Given the description of an element on the screen output the (x, y) to click on. 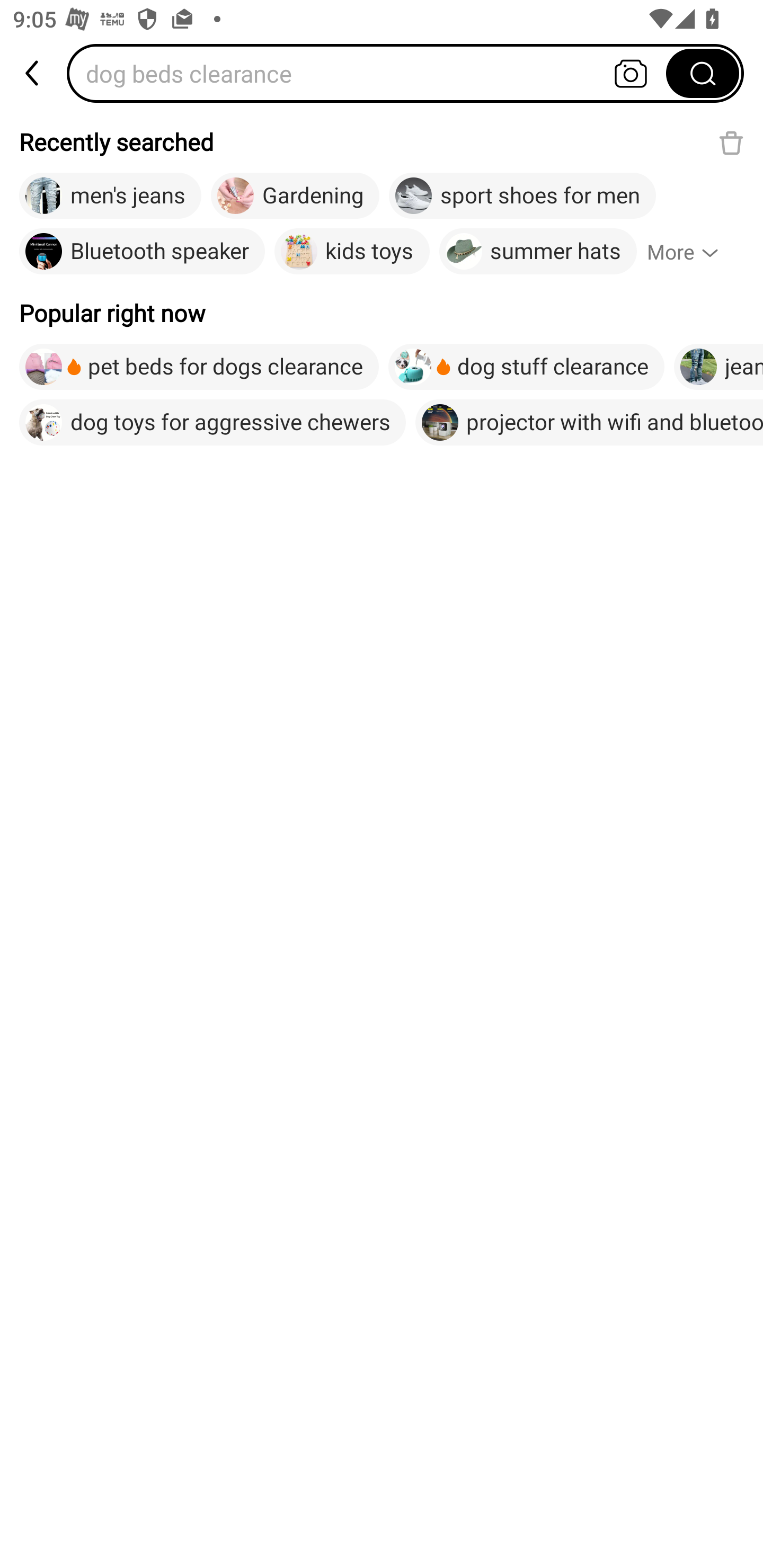
back (33, 72)
dog beds clearance (372, 73)
Search by photo (630, 73)
Delete recent search (731, 142)
men's jeans (110, 195)
Gardening (294, 195)
sport shoes for men (522, 195)
Bluetooth speaker (141, 251)
kids toys (351, 251)
summer hats (538, 251)
More (690, 251)
pet beds for dogs clearance (199, 366)
dog stuff clearance (526, 366)
jeans men (718, 366)
dog toys for aggressive chewers (212, 422)
projector with wifi and bluetooth (589, 422)
